Given the description of an element on the screen output the (x, y) to click on. 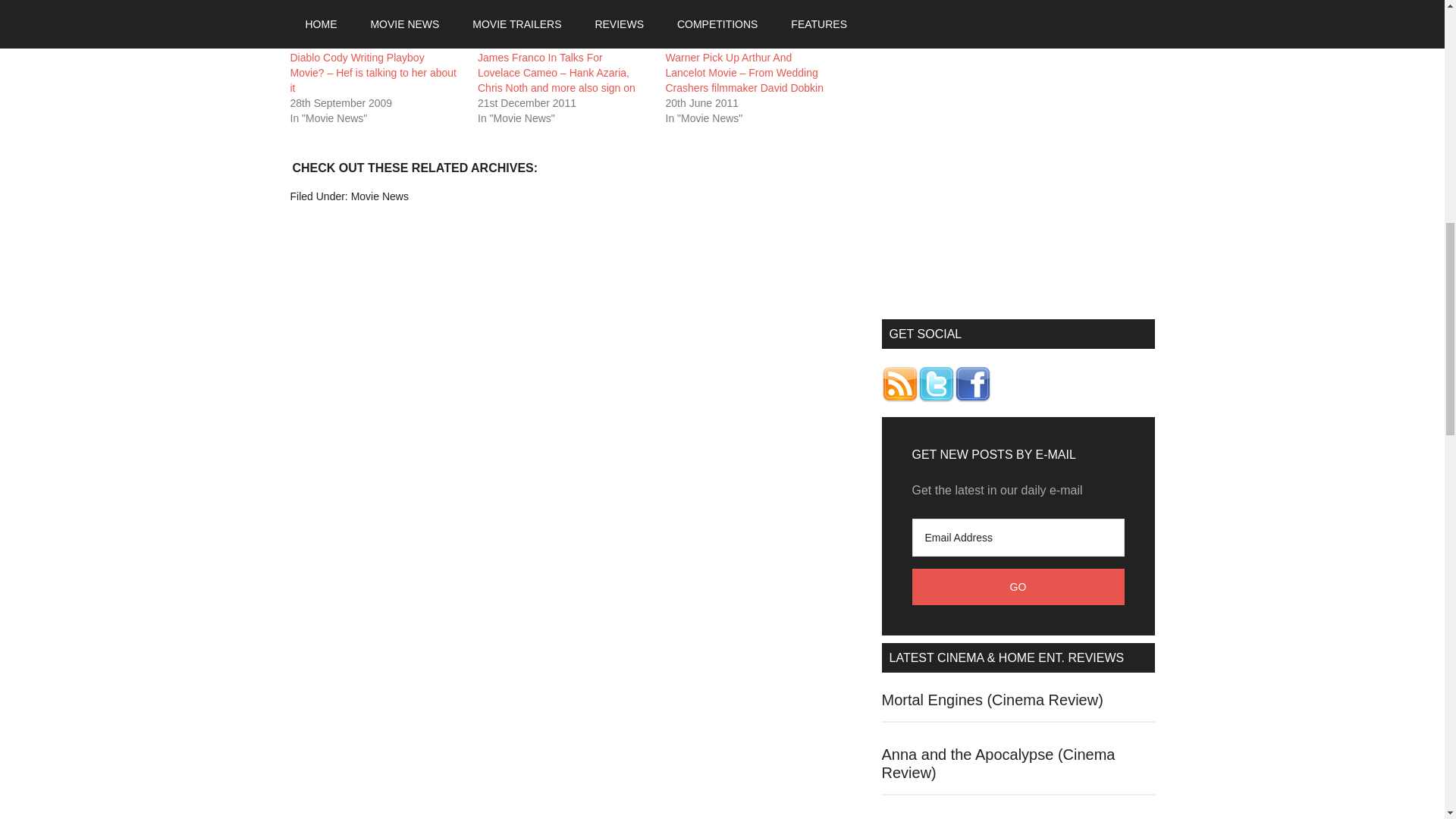
Go (1017, 586)
Movie News (379, 196)
Go (1017, 586)
